Given the description of an element on the screen output the (x, y) to click on. 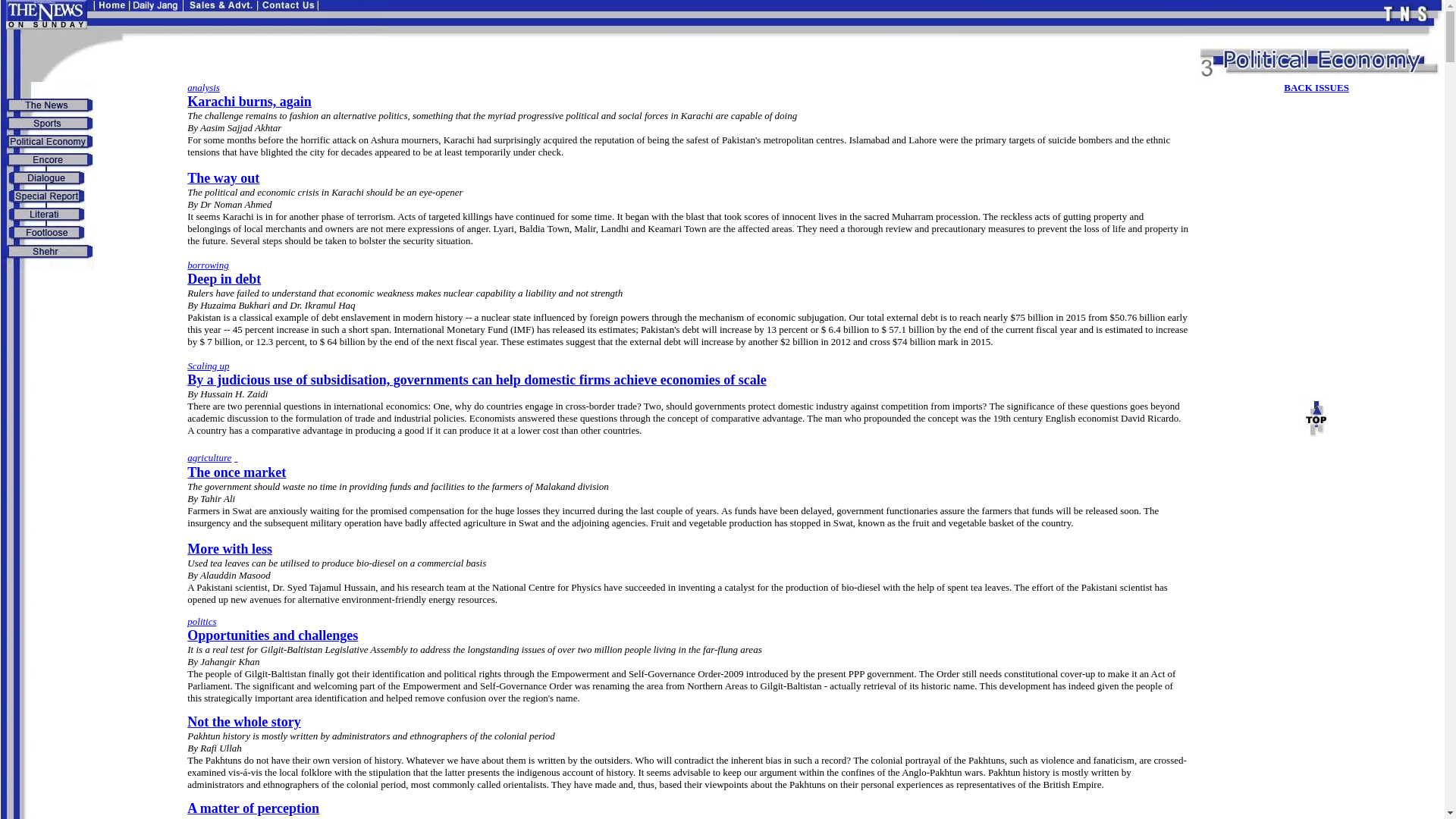
BACK ISSUES (1316, 87)
agriculture (209, 457)
Not the whole story (243, 721)
More with less (249, 94)
The way out (229, 550)
A matter of perception (223, 178)
